Given the description of an element on the screen output the (x, y) to click on. 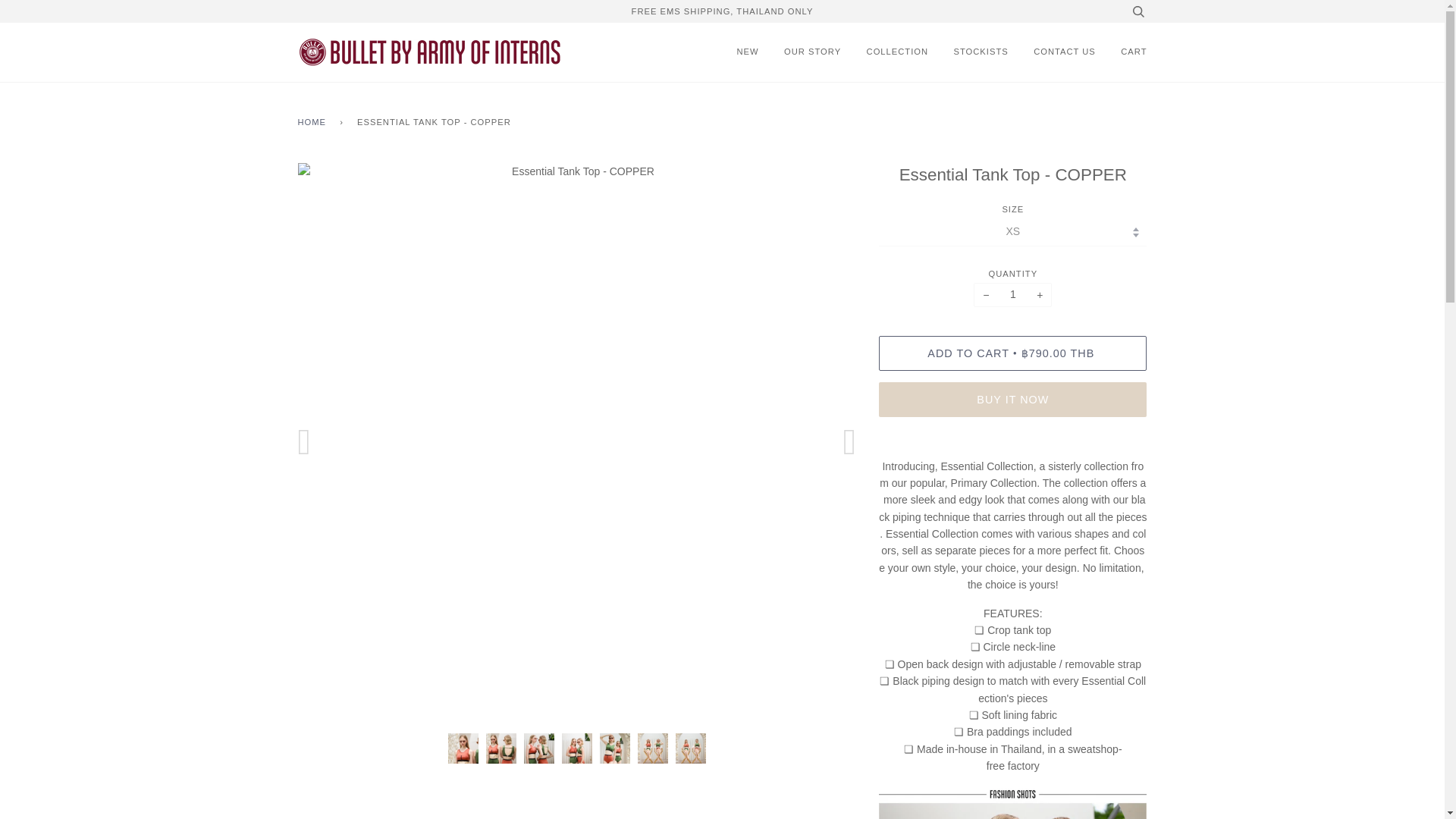
HOME (314, 122)
Back to the frontpage (314, 122)
CONTACT US (1064, 51)
STOCKISTS (981, 51)
1 (1012, 294)
OUR STORY (812, 51)
COLLECTION (897, 51)
BUY IT NOW (1013, 399)
